Given the description of an element on the screen output the (x, y) to click on. 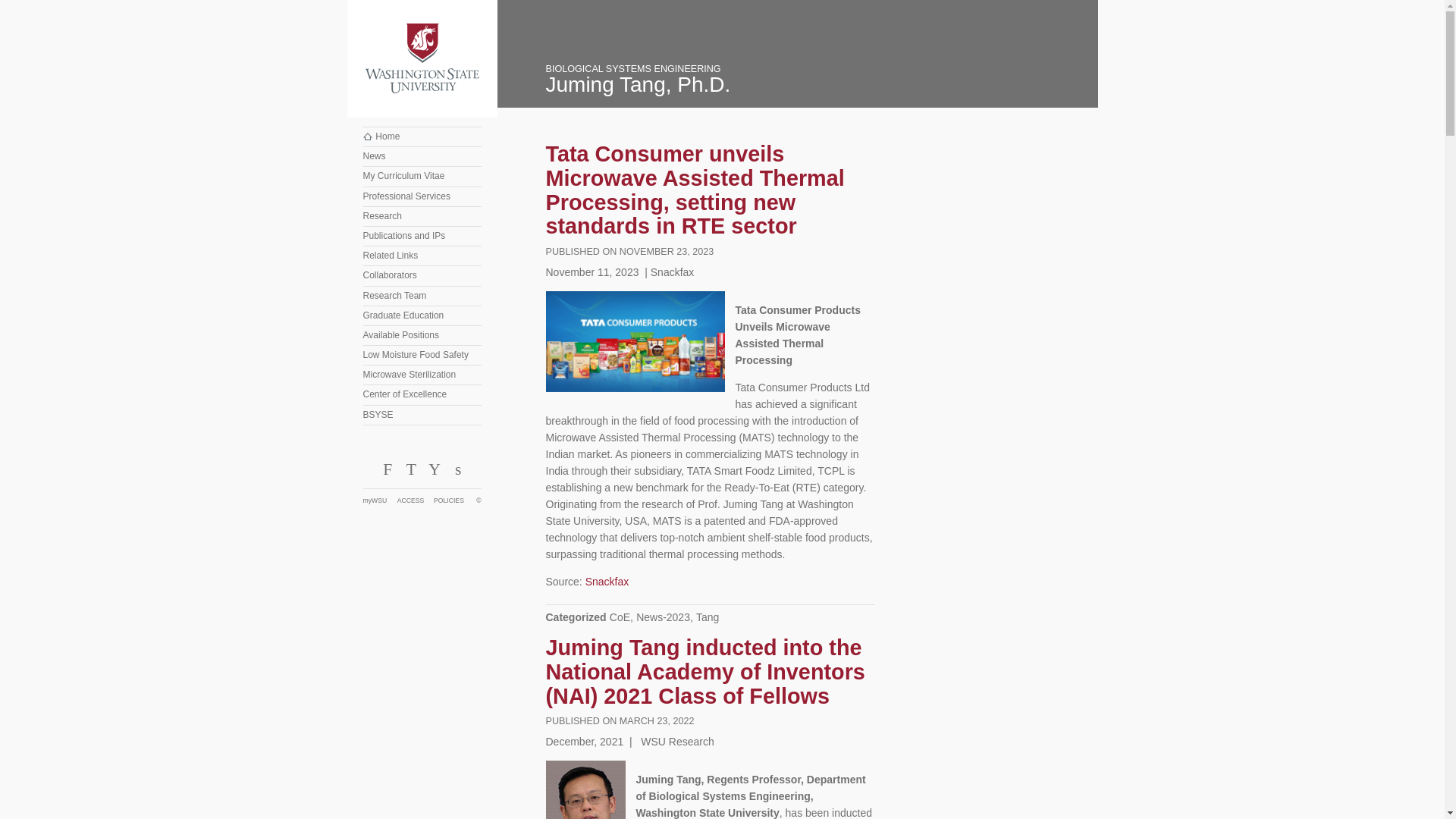
Center of Excellence (421, 394)
Home (421, 136)
facebook (386, 473)
BSYSE (421, 415)
CoE (620, 616)
youtube (433, 473)
News-2023 (663, 616)
Publications and IPs (421, 235)
myWSU (379, 501)
twitter (409, 473)
Professional Services (421, 196)
Low Moisture Food Safety (421, 354)
Research Team (421, 295)
Collaborators (421, 275)
